Given the description of an element on the screen output the (x, y) to click on. 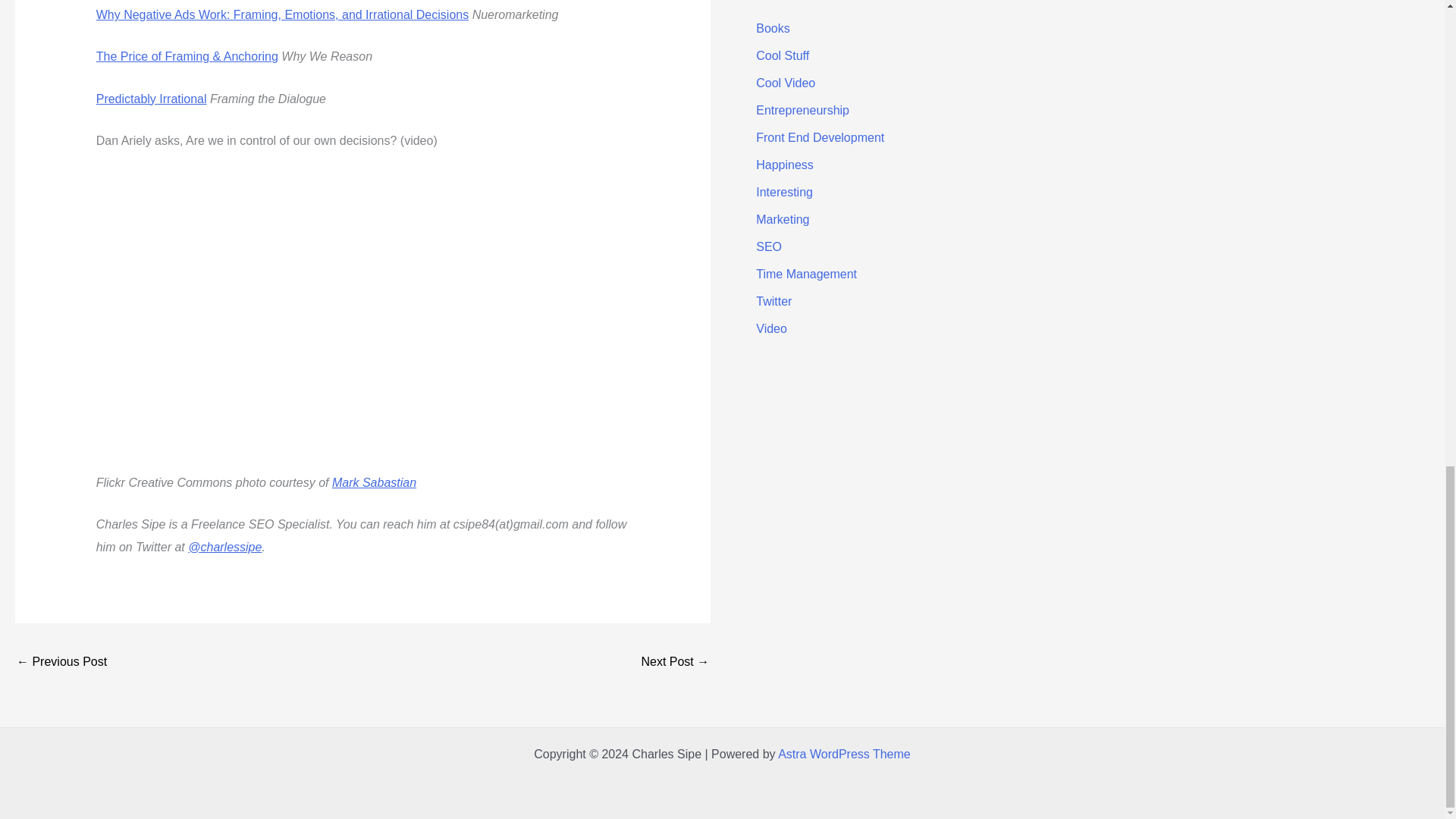
Mark Sabastian (373, 481)
Predictably Irrational (151, 98)
15 Awesome Podcasts That I Recommend (674, 663)
7 Awesome Free Online College Lecture Series (61, 663)
